Given the description of an element on the screen output the (x, y) to click on. 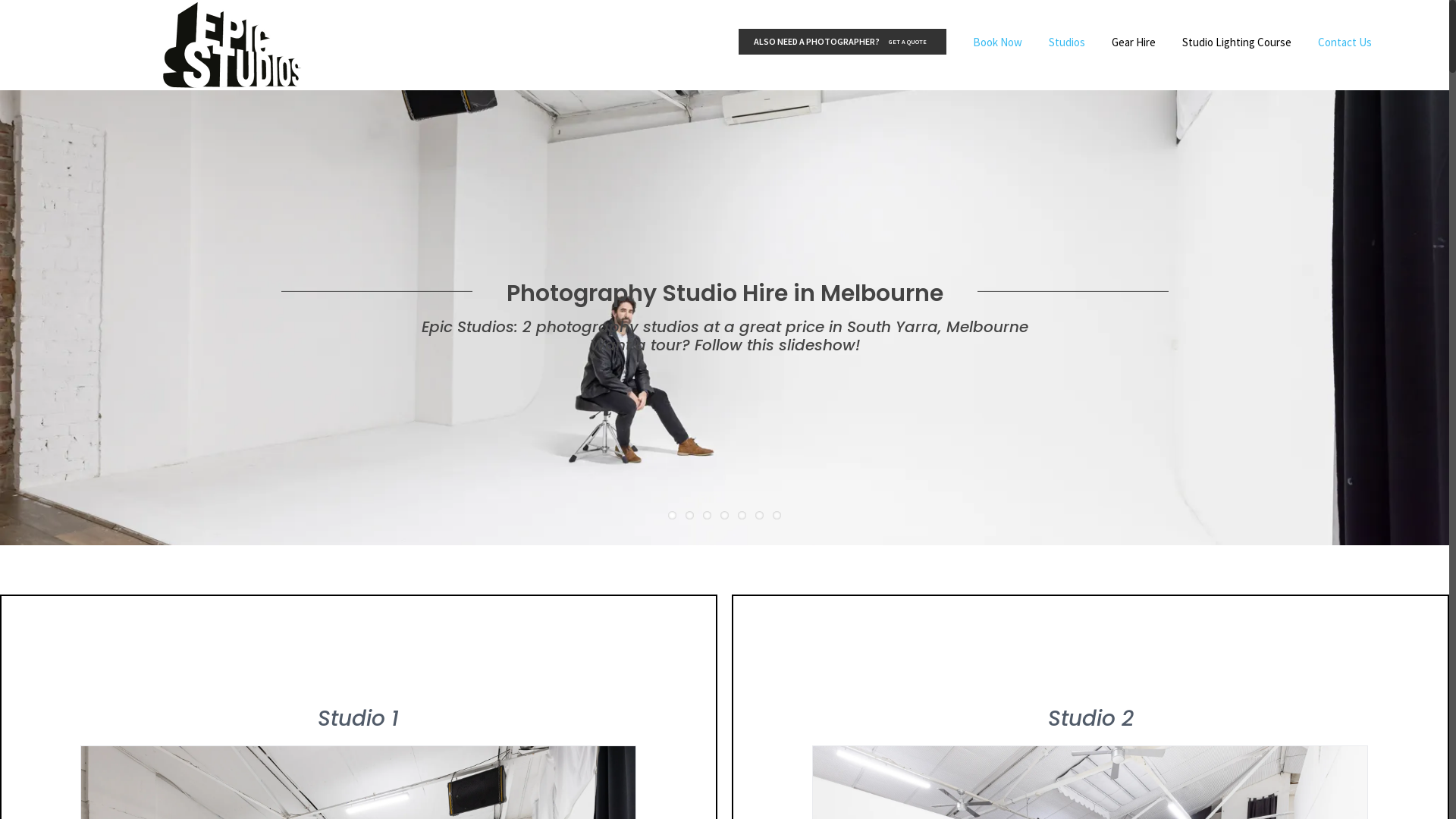
3 Element type: text (706, 515)
5 Element type: text (741, 515)
7 Element type: text (776, 515)
2 Element type: text (689, 515)
Book Now Element type: text (997, 41)
Gear Hire Element type: text (1133, 41)
1 Element type: text (672, 515)
Contact Us Element type: text (1344, 41)
Studio Lighting Course Element type: text (1236, 41)
ALSO NEED A PHOTOGRAPHER?
GET A QUOTE Element type: text (842, 41)
Studios Element type: text (1066, 41)
4 Element type: text (724, 515)
6 Element type: text (759, 515)
